Given the description of an element on the screen output the (x, y) to click on. 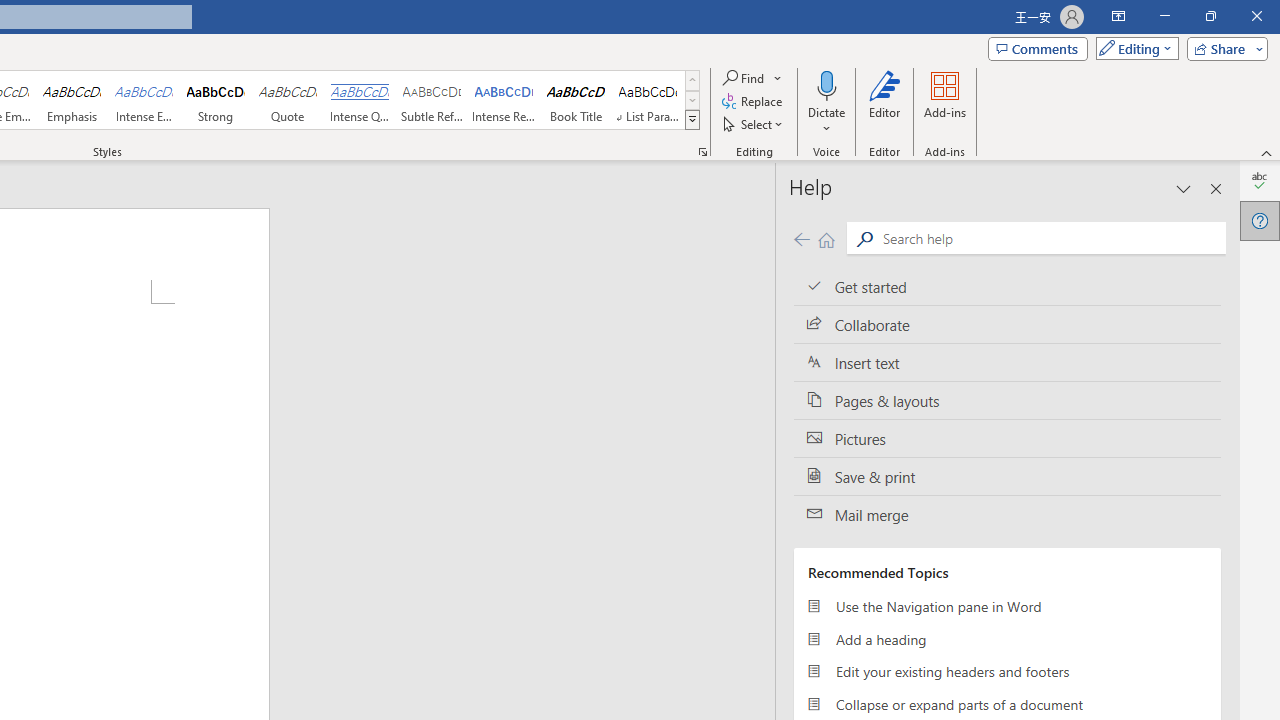
Previous page (801, 238)
Edit your existing headers and footers (1007, 672)
Intense Quote (359, 100)
Insert text (1007, 363)
Save & print (1007, 476)
Intense Reference (504, 100)
